Given the description of an element on the screen output the (x, y) to click on. 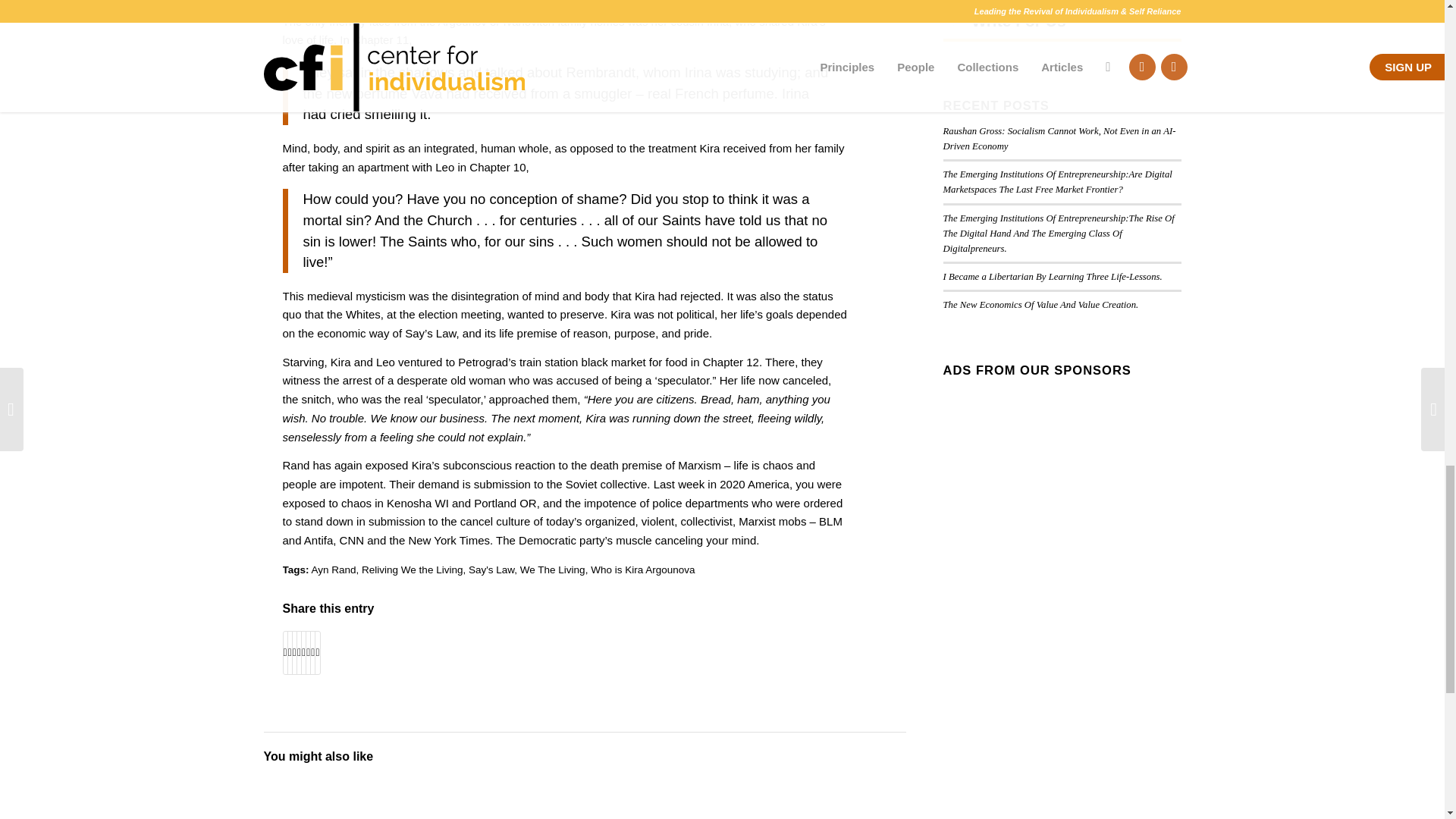
Say's Law (490, 569)
Ayn Rand (333, 569)
Reliving We the Living (412, 569)
We The Living (552, 569)
Who is Kira Argounova (642, 569)
